Given the description of an element on the screen output the (x, y) to click on. 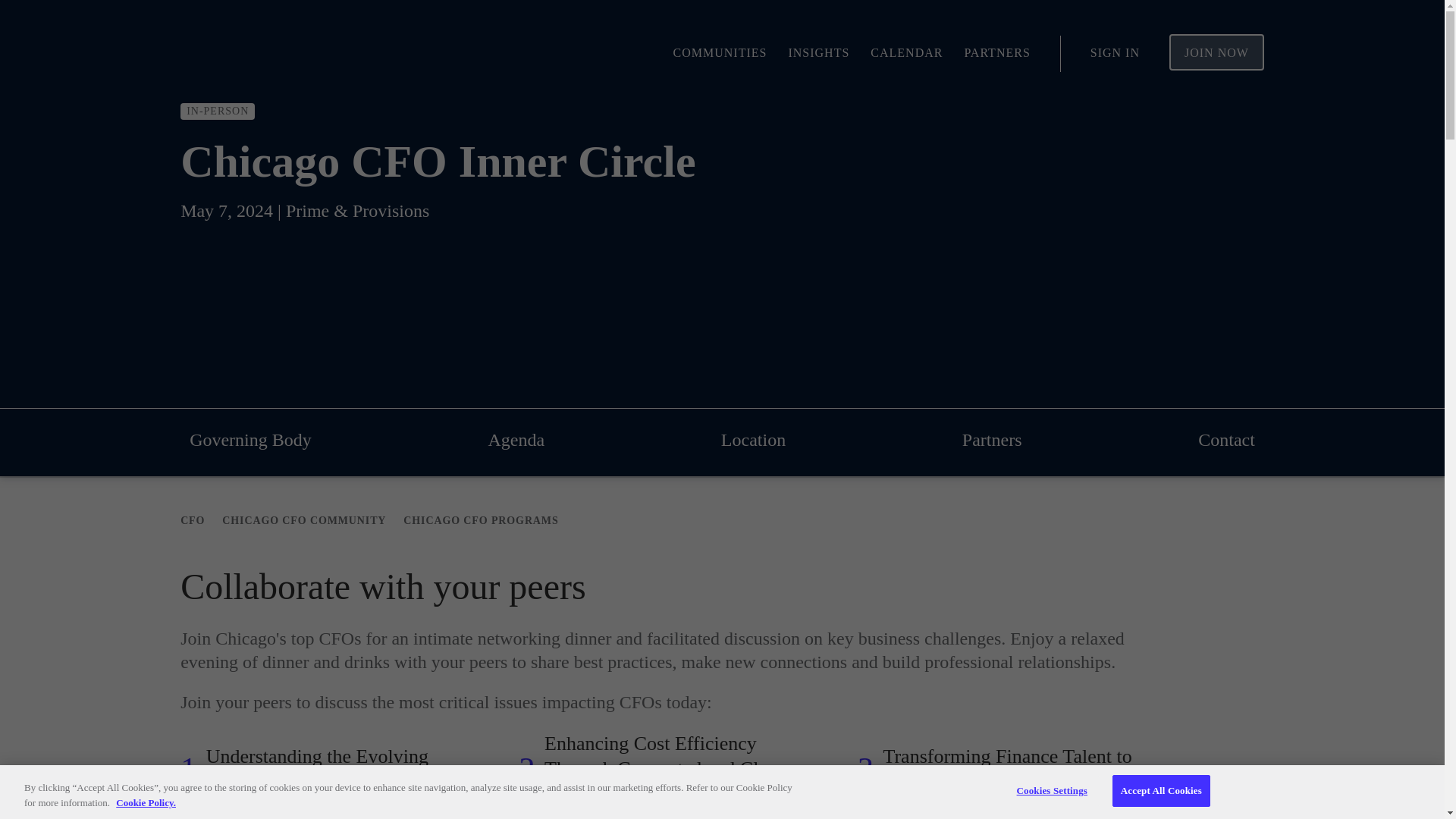
Agenda (516, 439)
CALENDAR (905, 52)
CHICAGO CFO PROGRAMS (480, 521)
INSIGHTS (817, 52)
Location (752, 439)
CHICAGO CFO COMMUNITY (303, 521)
evanta (233, 53)
JOIN NOW (1216, 52)
CFO (192, 521)
SIGN IN (1114, 52)
COMMUNITIES (719, 52)
Governing Body (250, 439)
PARTNERS (996, 52)
Partners (991, 439)
Contact (1226, 439)
